Given the description of an element on the screen output the (x, y) to click on. 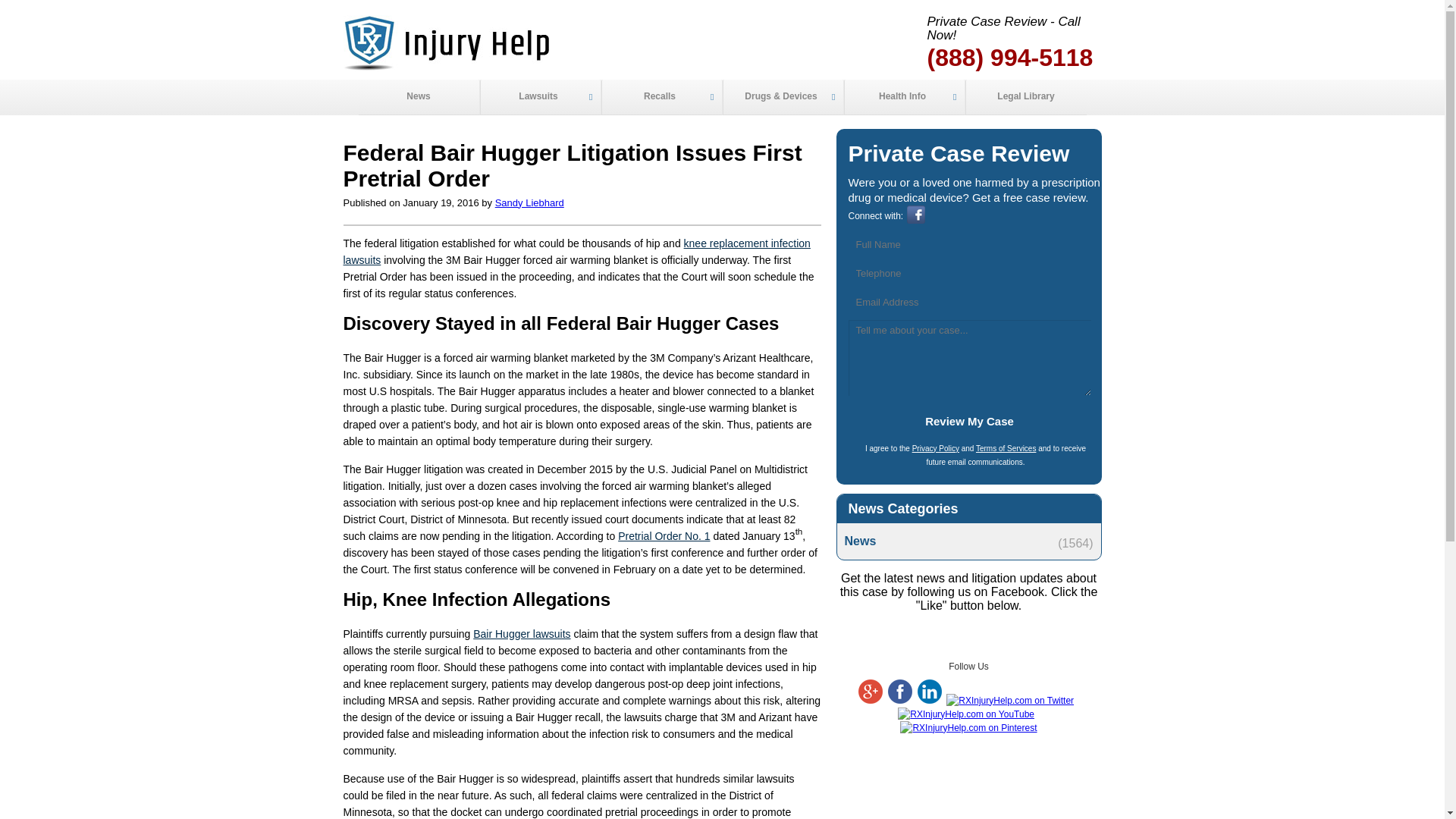
Lawsuits (539, 97)
Pretrial Order No. 1 (663, 535)
Review My Case (968, 421)
News (968, 540)
Health Info (903, 97)
RXInjuryHelp.com on Twitter (1010, 700)
RXInjuryHelp.com on Pinterest (967, 727)
Recalls (660, 97)
RXInjuryHelp.com on YouTube (965, 714)
News (418, 97)
